Given the description of an element on the screen output the (x, y) to click on. 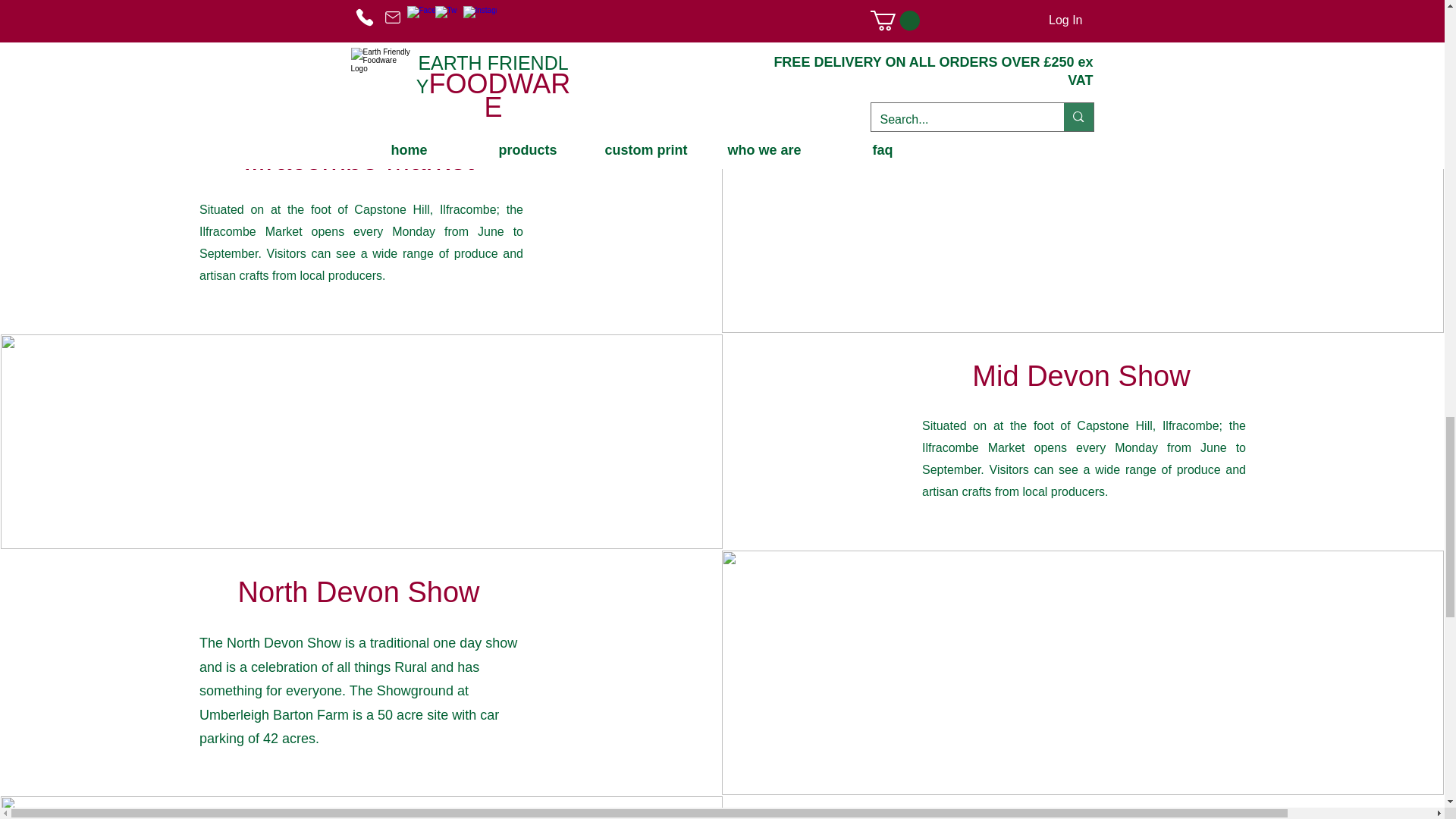
North Devon Show (359, 592)
Mid Devon Show (1080, 376)
